Given the description of an element on the screen output the (x, y) to click on. 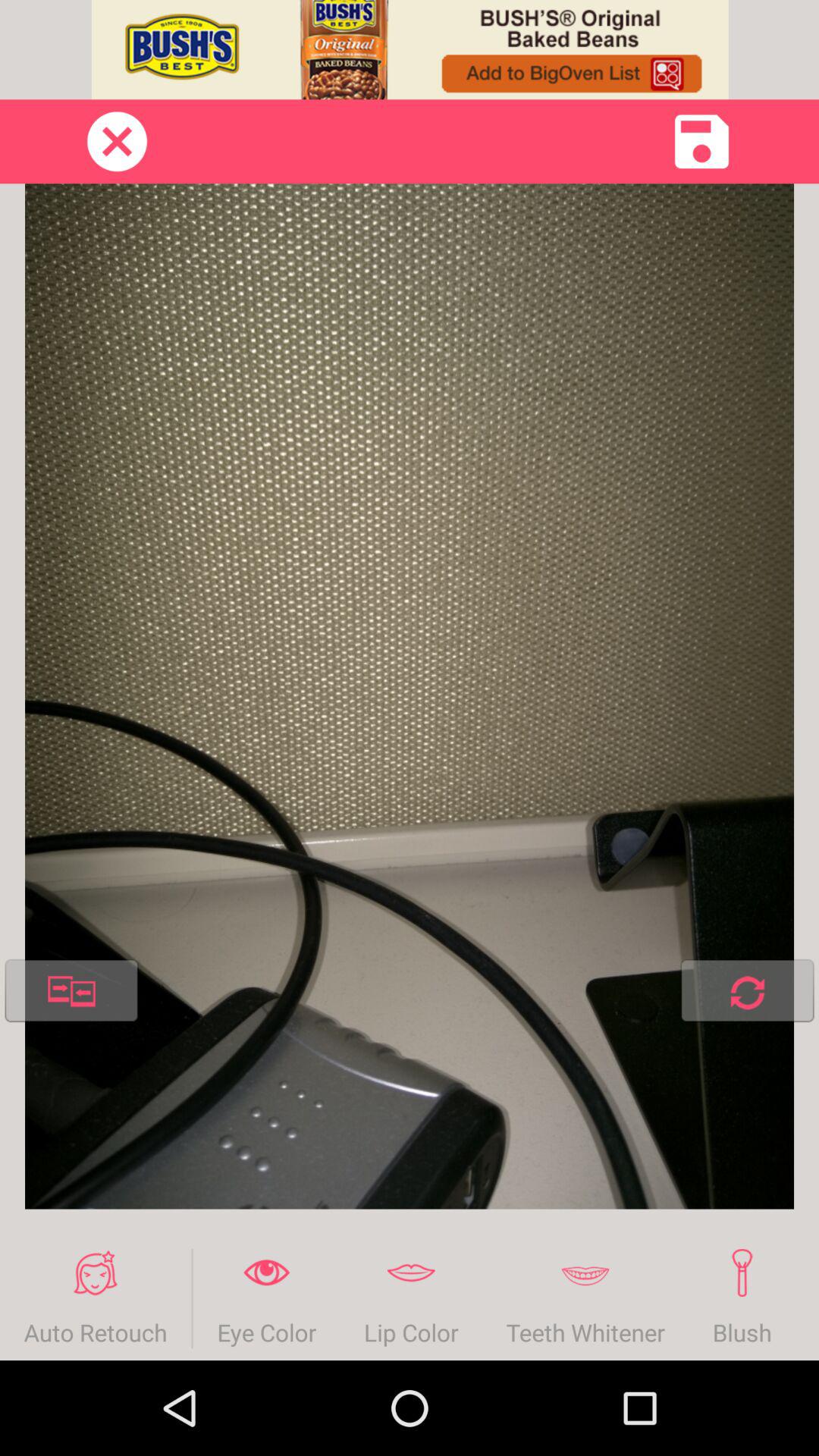
close page (116, 141)
